Given the description of an element on the screen output the (x, y) to click on. 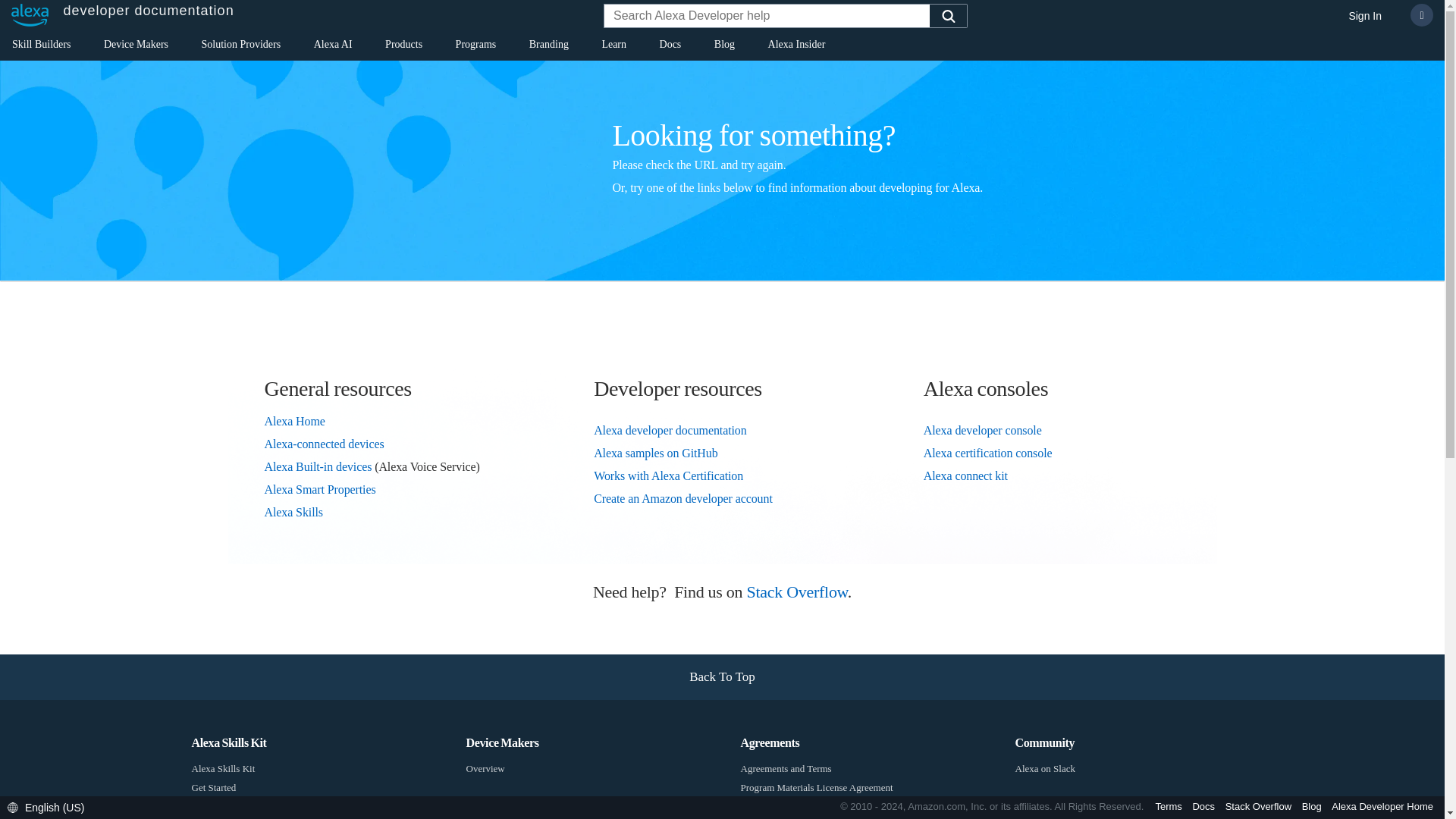
developer documentation (118, 15)
Sign In (1364, 17)
Skill Builders (40, 47)
Alexa AI (333, 47)
Insert a query. Press enter to send (767, 17)
Solution Providers (241, 47)
Device Makers (135, 47)
Products (403, 47)
